Given the description of an element on the screen output the (x, y) to click on. 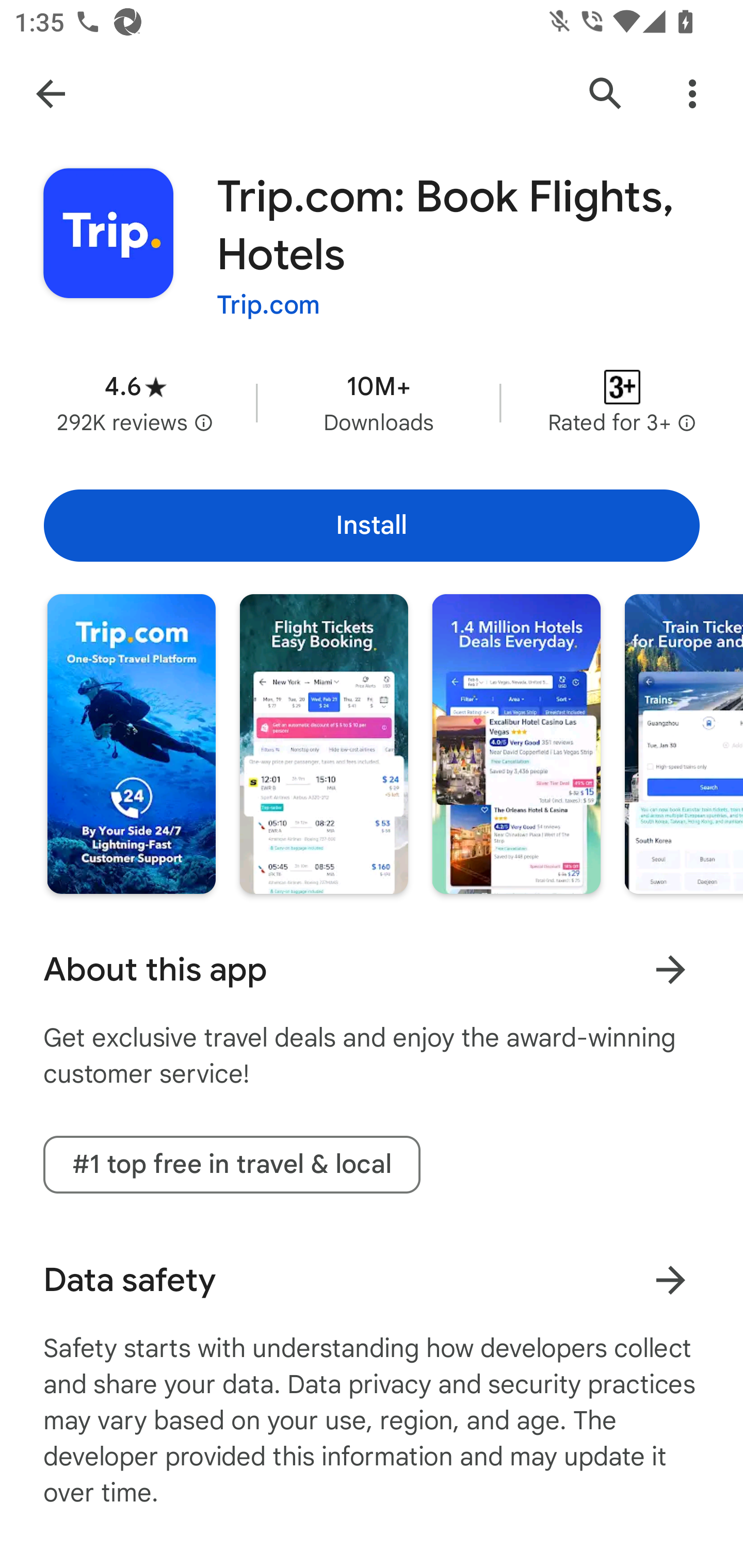
Navigate up (50, 93)
Search Google Play (605, 93)
More Options (692, 93)
Trip.com (268, 304)
Average rating 4.6 stars in 292 thousand reviews (135, 402)
Content rating Rated for 3+ (622, 402)
Install (371, 525)
Screenshot "1" of "8" (130, 743)
Screenshot "2" of "8" (323, 743)
Screenshot "3" of "8" (515, 743)
Screenshot "4" of "8" (683, 743)
About this app Learn more About this app (371, 969)
Learn more About this app (670, 969)
#1 top free in travel & local tag (231, 1164)
Data safety Learn more about data safety (371, 1280)
Learn more about data safety (670, 1280)
